Given the description of an element on the screen output the (x, y) to click on. 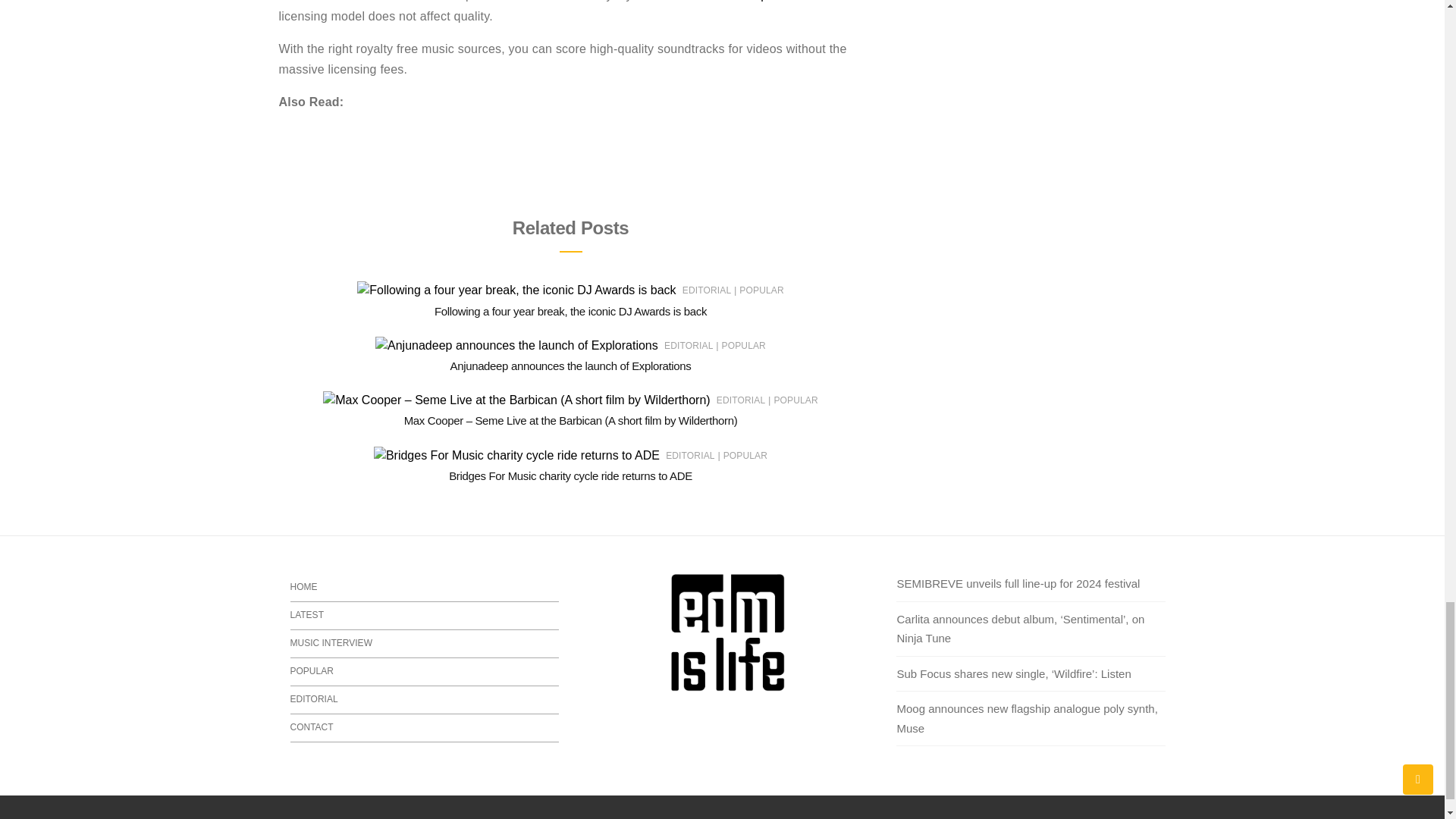
Anjunadeep announces the launch of Explorations (570, 365)
Anjunadeep announces the launch of Explorations (570, 365)
POPULAR (743, 345)
Following a four year break, the iconic DJ Awards is back (569, 310)
Bridges For Music charity cycle ride returns to ADE (570, 475)
EDITORIAL (688, 345)
composers (766, 0)
EDITORIAL (706, 290)
Following a four year break, the iconic DJ Awards is back (569, 310)
composers (766, 0)
POPULAR (761, 290)
